Given the description of an element on the screen output the (x, y) to click on. 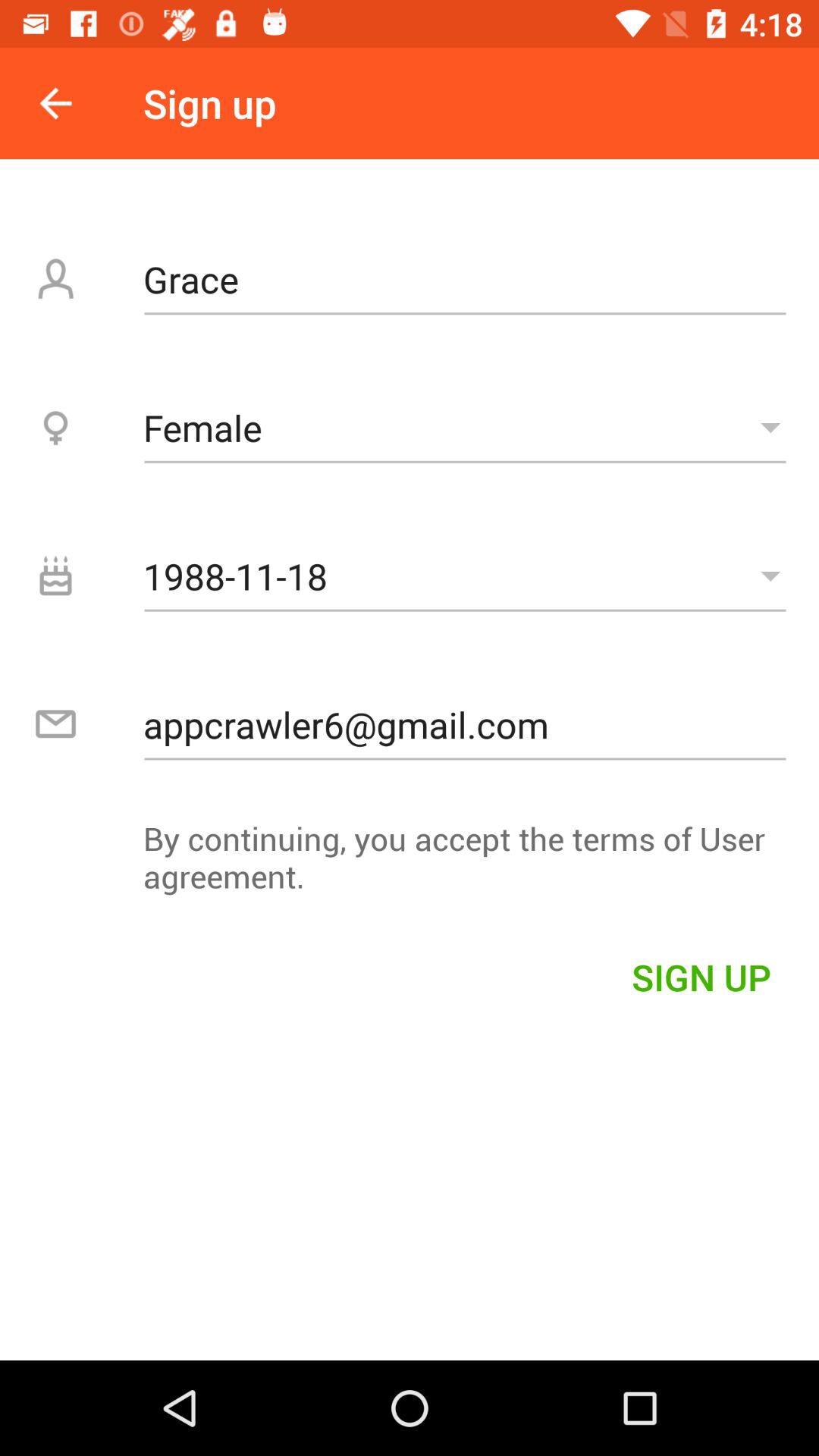
scroll until appcrawler6@gmail.com item (465, 724)
